Given the description of an element on the screen output the (x, y) to click on. 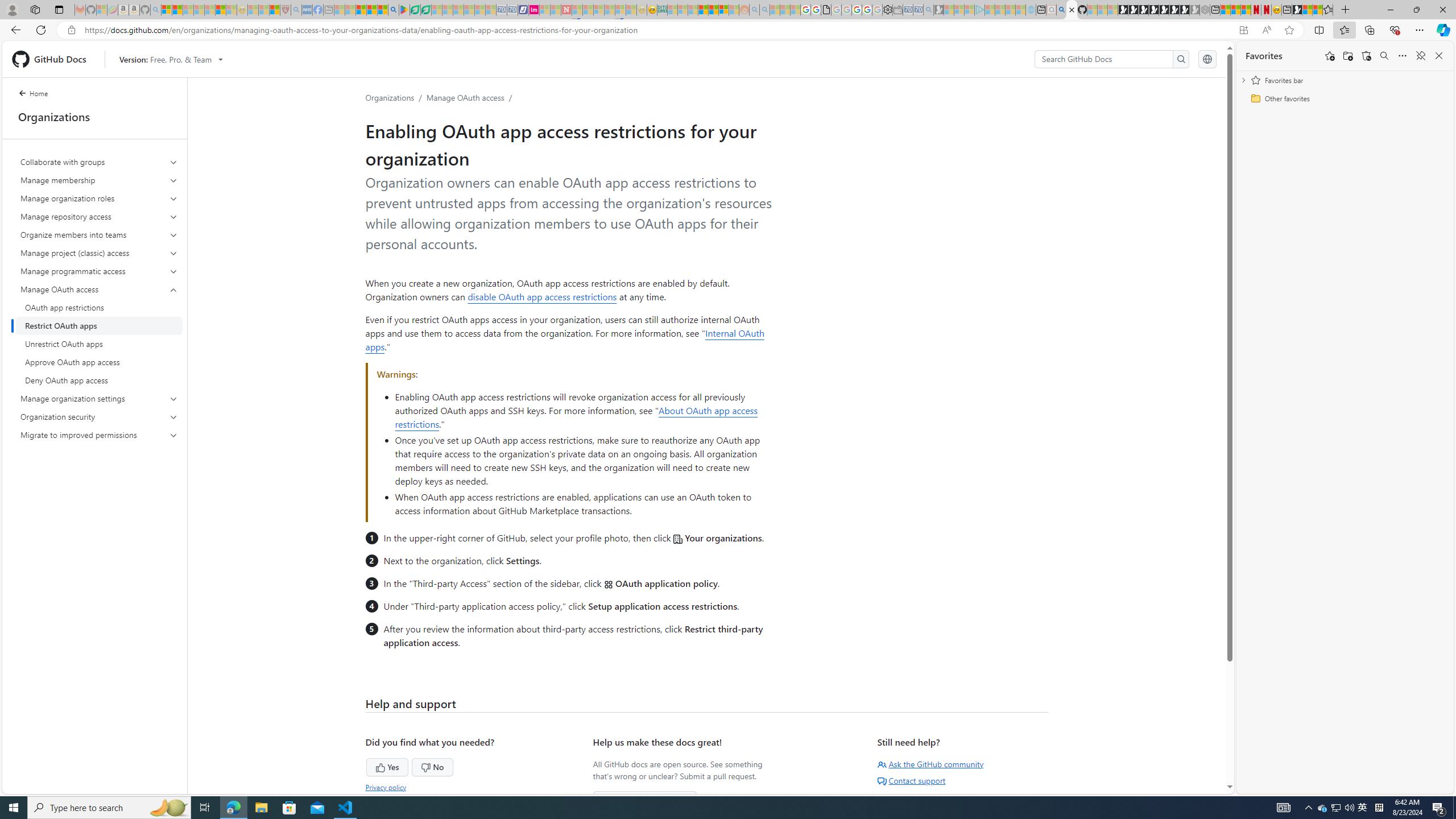
Unrestrict OAuth apps (99, 343)
OAuth app restrictions (99, 307)
Restrict OAuth apps (99, 325)
Deny OAuth app access (99, 380)
Migrate to improved permissions (99, 434)
Manage organization settings (99, 398)
disable OAuth app access restrictions (542, 296)
